Given the description of an element on the screen output the (x, y) to click on. 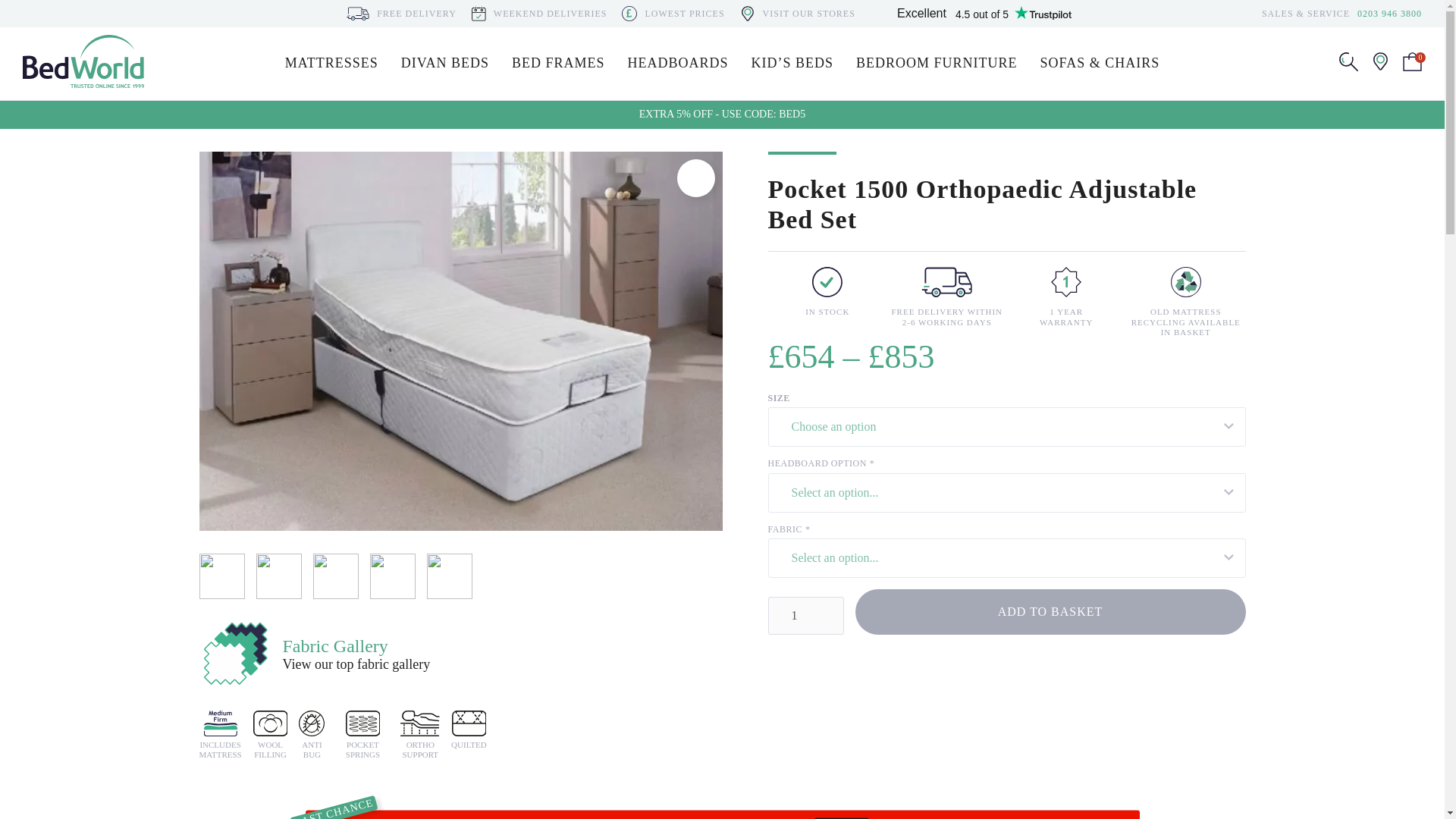
Visit our Stores (809, 13)
Sale and Service (1389, 13)
Customer reviews powered by Trustpilot (983, 13)
HEADBOARDS (677, 63)
DIVAN BEDS (445, 63)
BED FRAMES (557, 63)
Medium-Firm (220, 723)
VISIT OUR STORES (809, 13)
1 (805, 615)
find a store (1380, 65)
